Given the description of an element on the screen output the (x, y) to click on. 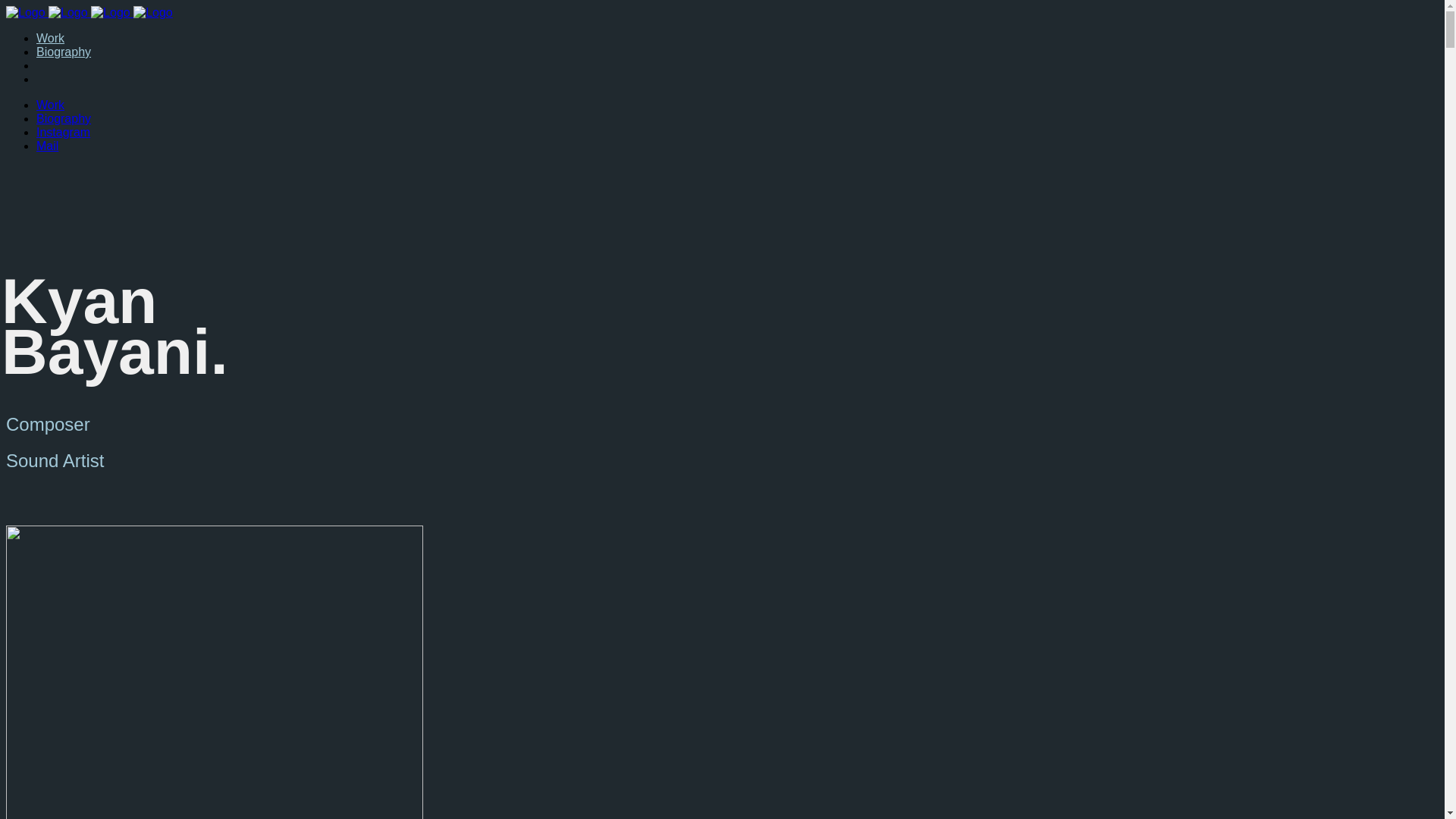
Mail Element type: text (47, 145)
Biography Element type: text (63, 51)
Work Element type: text (50, 104)
Biography Element type: text (63, 118)
Instagram Element type: text (63, 131)
Work Element type: text (50, 37)
